Given the description of an element on the screen output the (x, y) to click on. 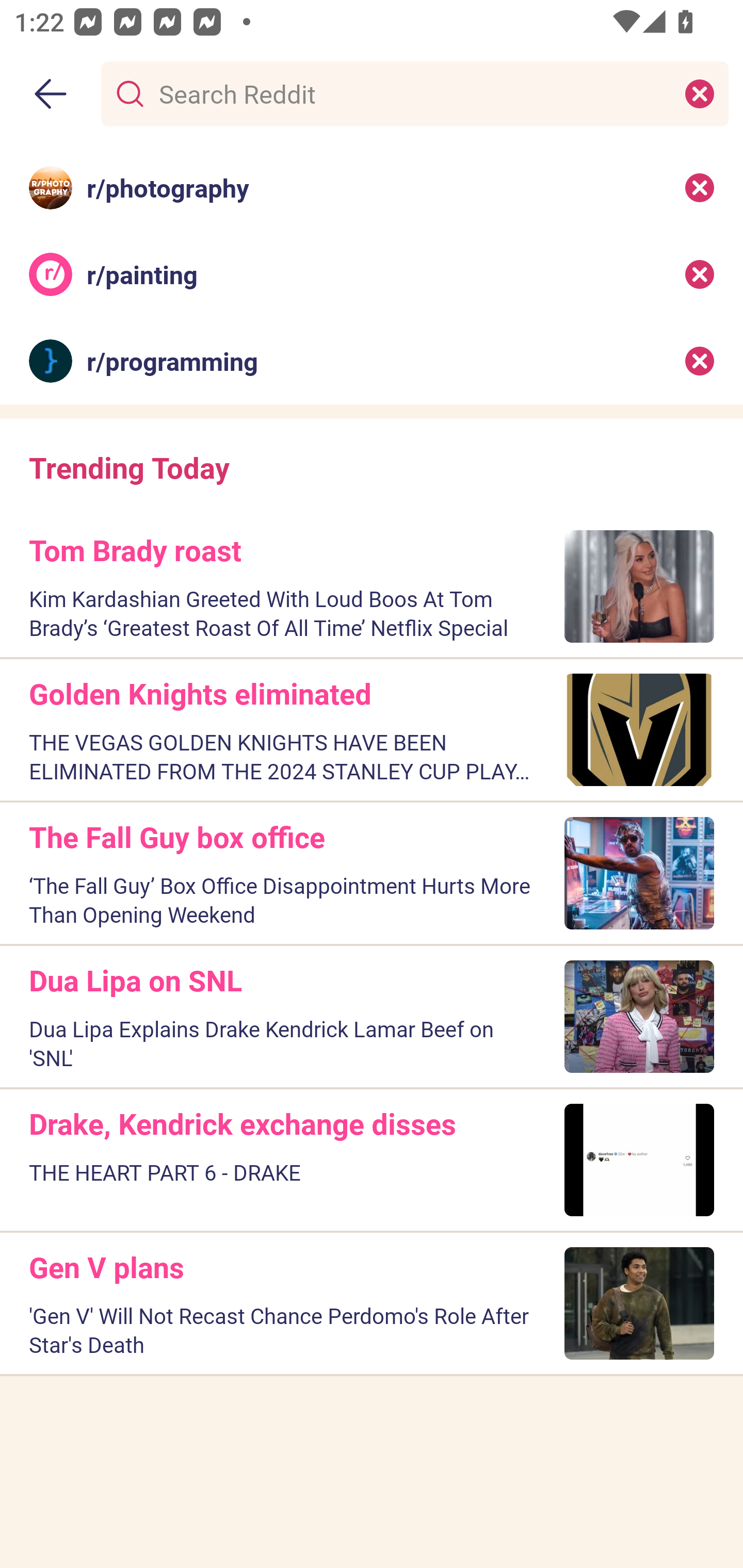
Back (50, 93)
Search Reddit (410, 93)
Clear search (699, 93)
r/photography Recent search: r/photography Remove (371, 187)
Remove (699, 187)
r/painting Recent search: r/painting Remove (371, 274)
Remove (699, 274)
r/programming Recent search: r/programming Remove (371, 361)
Remove (699, 361)
